Given the description of an element on the screen output the (x, y) to click on. 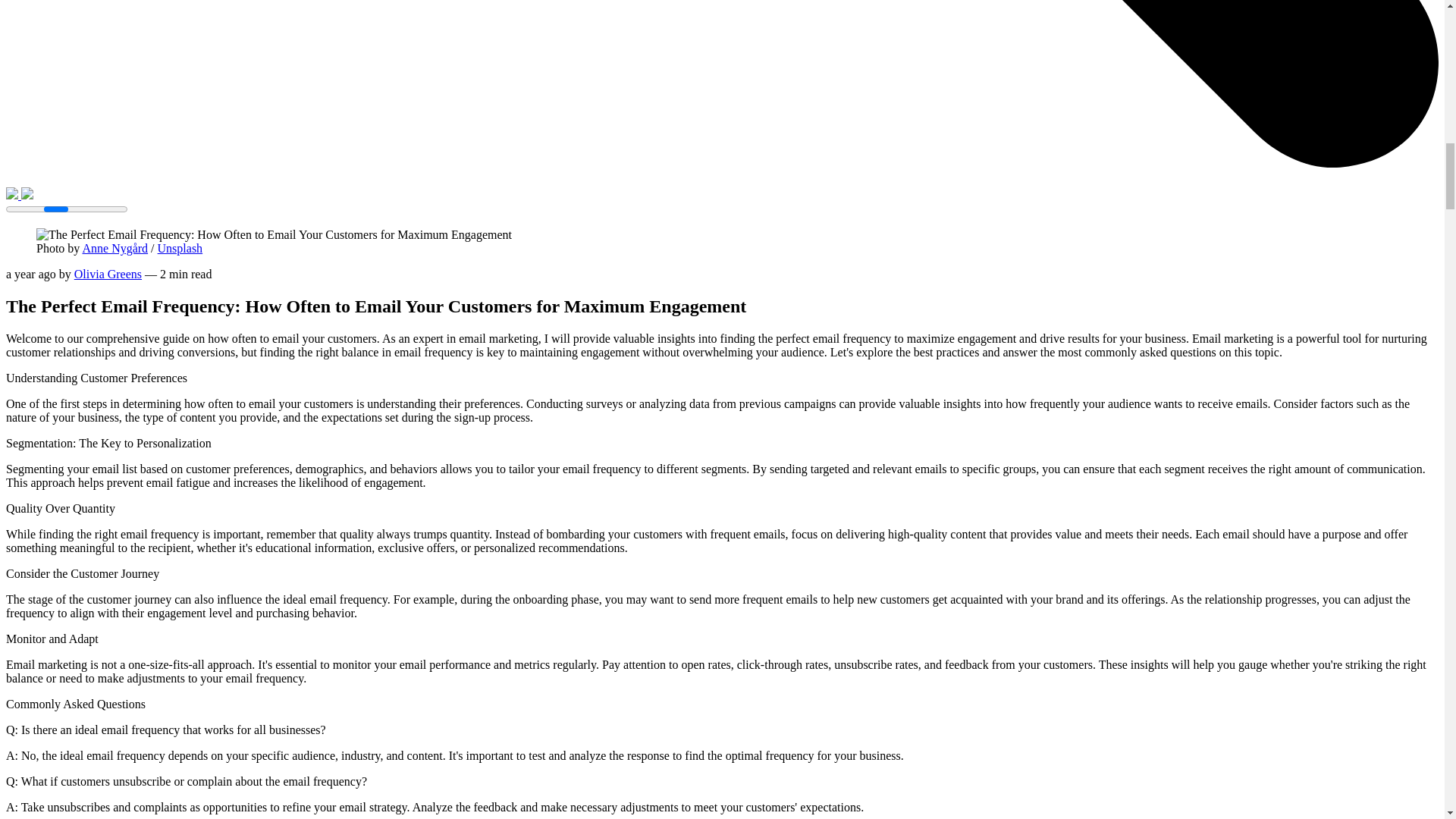
Unsplash (180, 247)
Olivia Greens (107, 273)
